Given the description of an element on the screen output the (x, y) to click on. 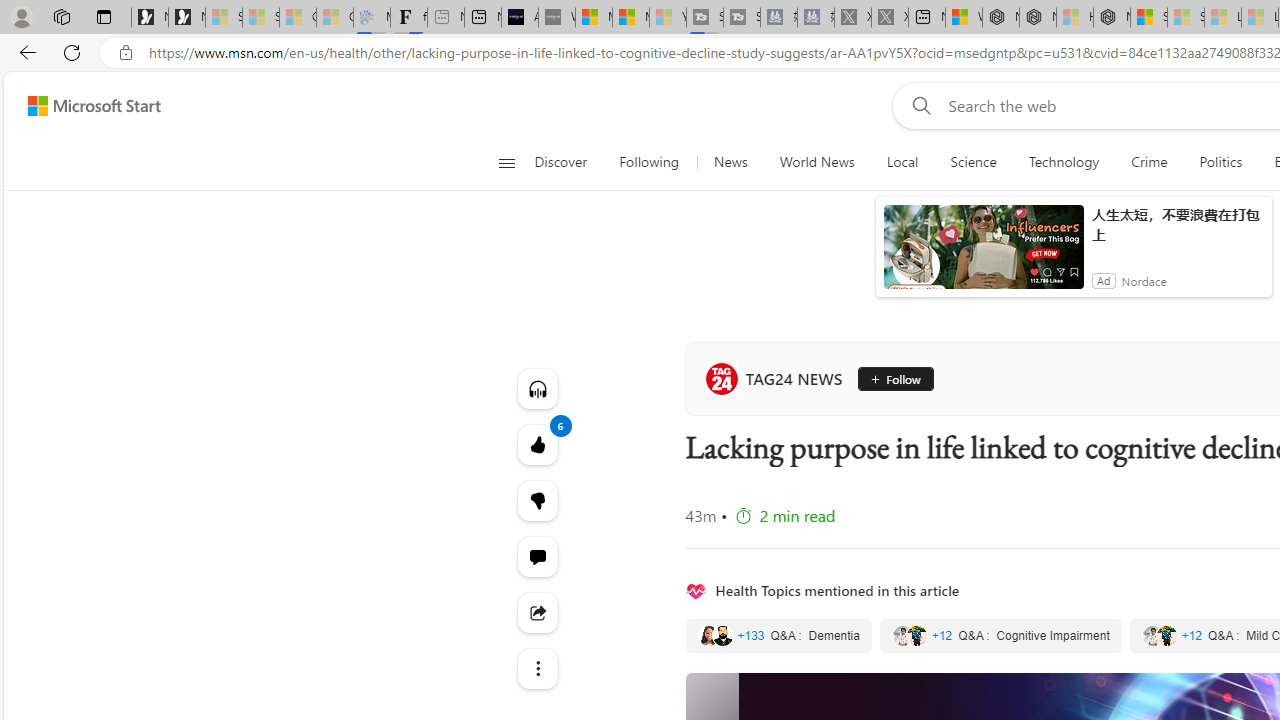
anim-content (983, 255)
6 Like (537, 444)
World News (816, 162)
TAG24 NEWS (778, 378)
Newsletter Sign Up (186, 17)
Open navigation menu (506, 162)
More like this6Fewer like thisStart the conversation (537, 500)
